Given the description of an element on the screen output the (x, y) to click on. 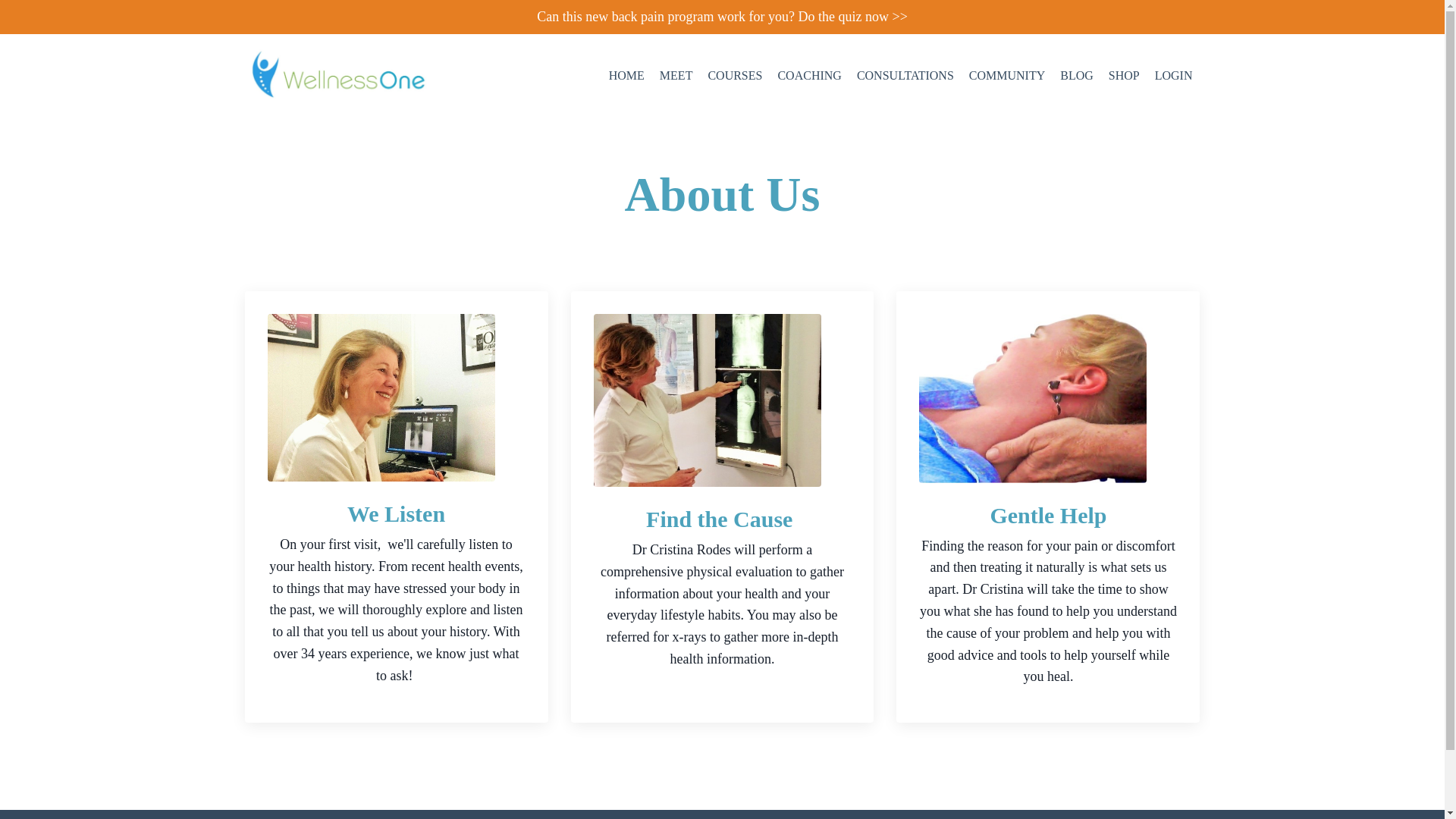
LOGIN (1173, 74)
CONSULTATIONS (905, 75)
HOME (626, 75)
MEET (676, 75)
COACHING (809, 75)
BLOG (1076, 75)
COURSES (734, 75)
COMMUNITY (1007, 75)
SHOP (1124, 75)
